Given the description of an element on the screen output the (x, y) to click on. 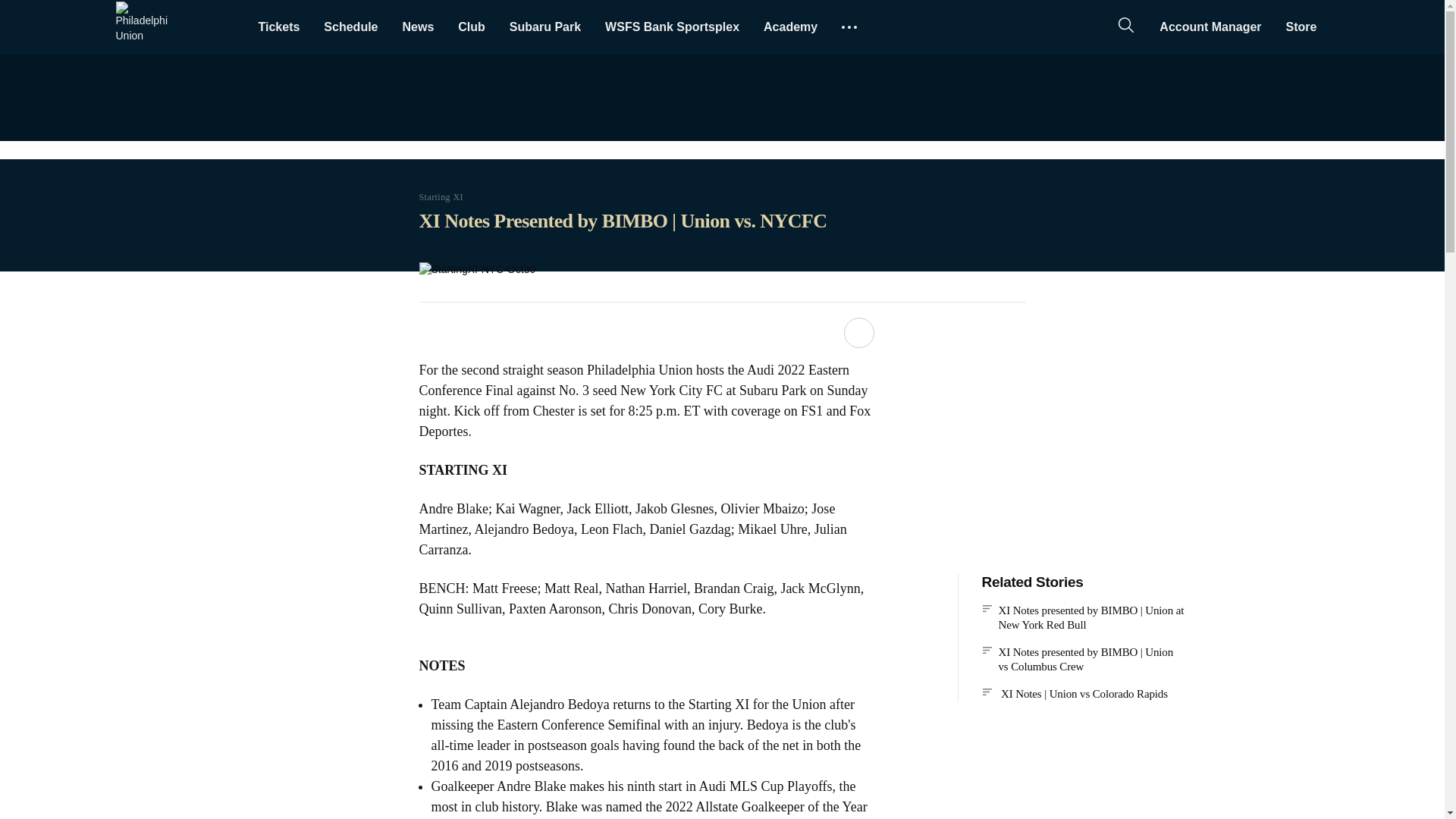
Subaru Park (544, 26)
Philadelphia Union (141, 27)
Store (1301, 26)
Academy (790, 26)
News (417, 26)
Account Manager (1209, 26)
Schedule (350, 26)
Club (471, 26)
Tickets (278, 26)
WSFS Bank Sportsplex (671, 26)
